Given the description of an element on the screen output the (x, y) to click on. 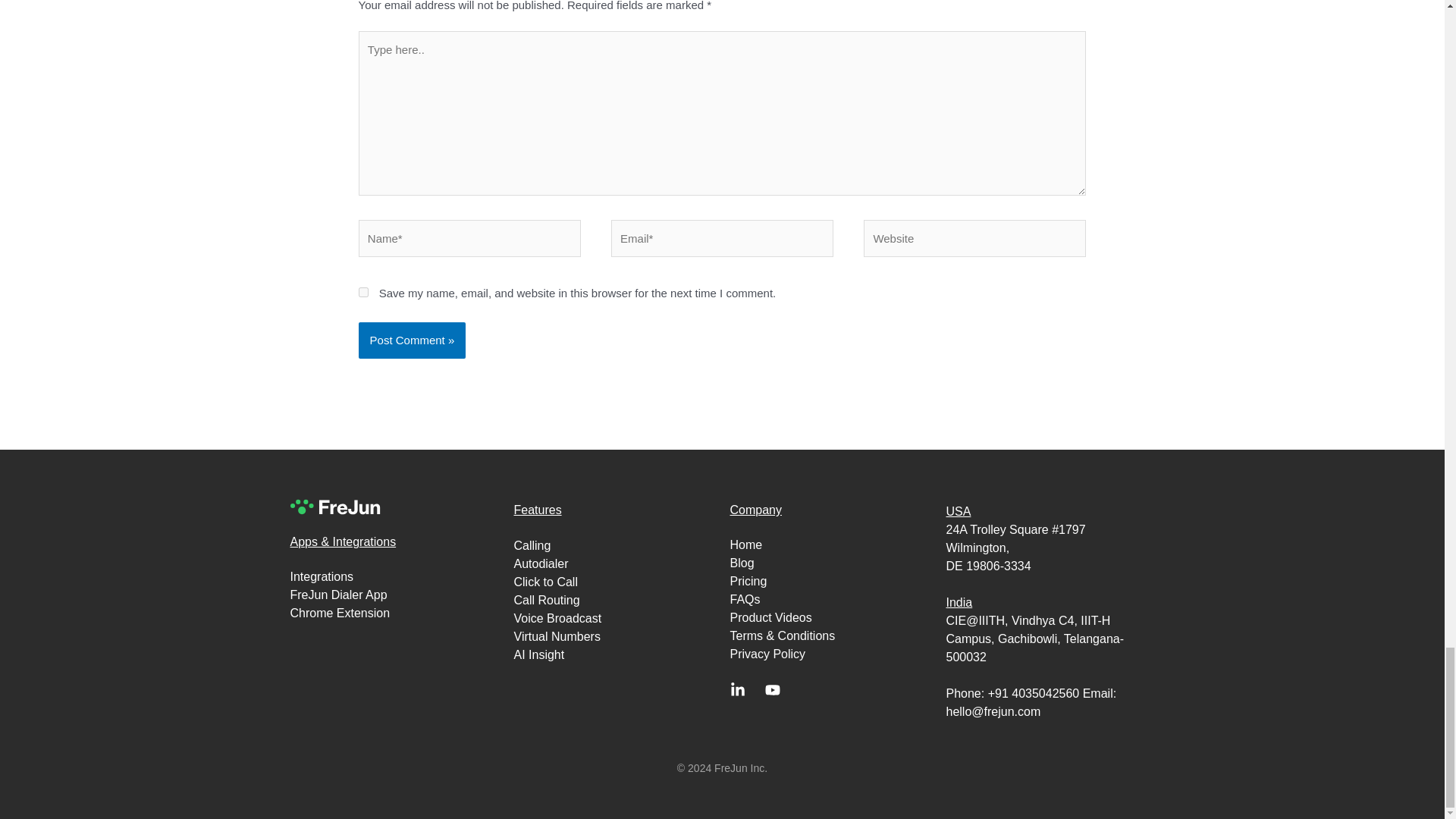
FreJun Dialer App (397, 595)
Calling (613, 546)
Integrations (397, 577)
Chrome Extension (397, 613)
yes (363, 292)
